Given the description of an element on the screen output the (x, y) to click on. 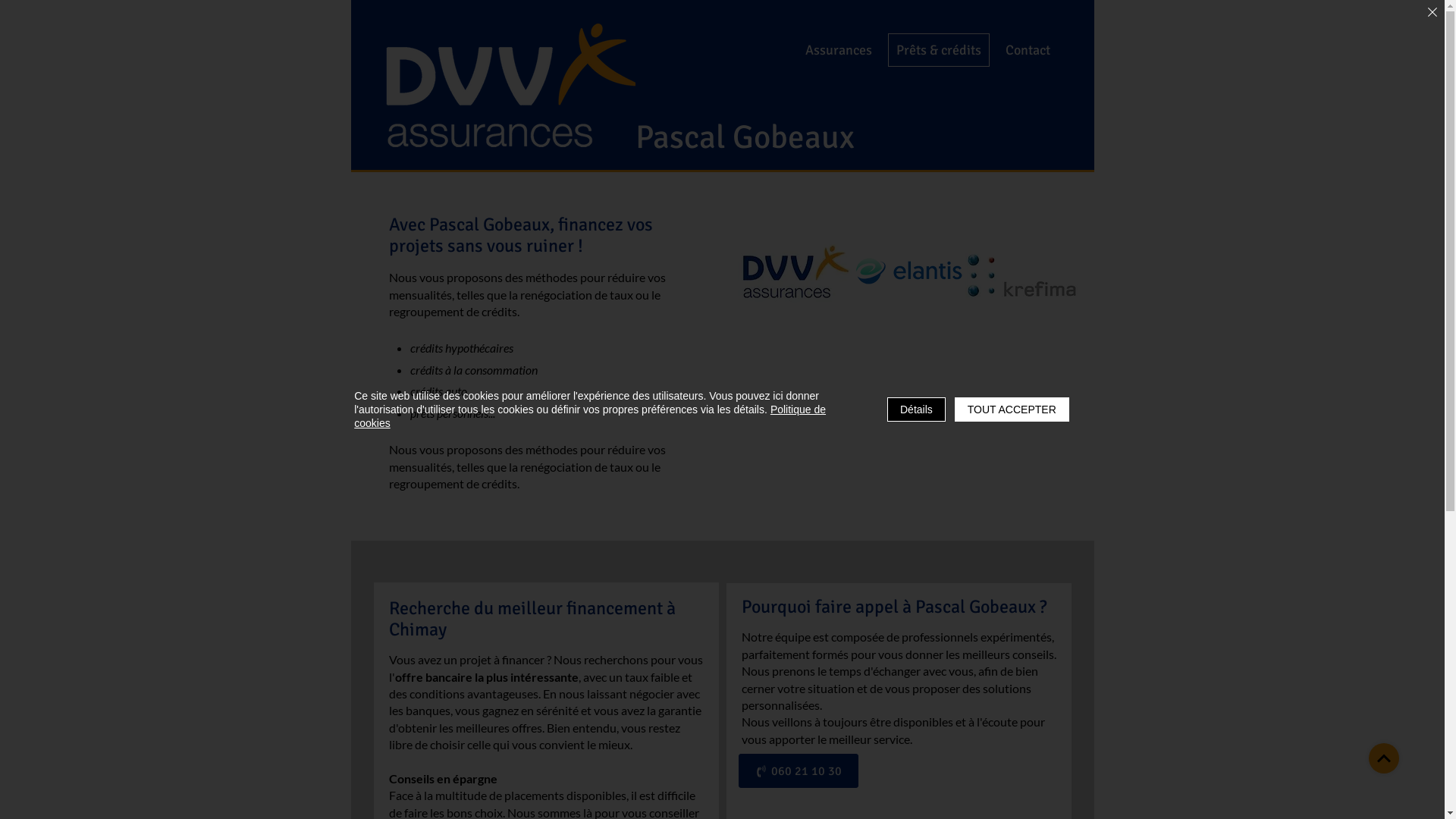
Contact Element type: text (1026, 49)
Assurances Element type: text (837, 49)
DVV Assurances Element type: hover (793, 271)
elantis Element type: hover (907, 271)
060 21 10 30 Element type: text (798, 770)
krefina Element type: hover (1021, 275)
TOUT ACCEPTER Element type: text (1011, 409)
Politique de cookies Element type: text (589, 416)
